Given the description of an element on the screen output the (x, y) to click on. 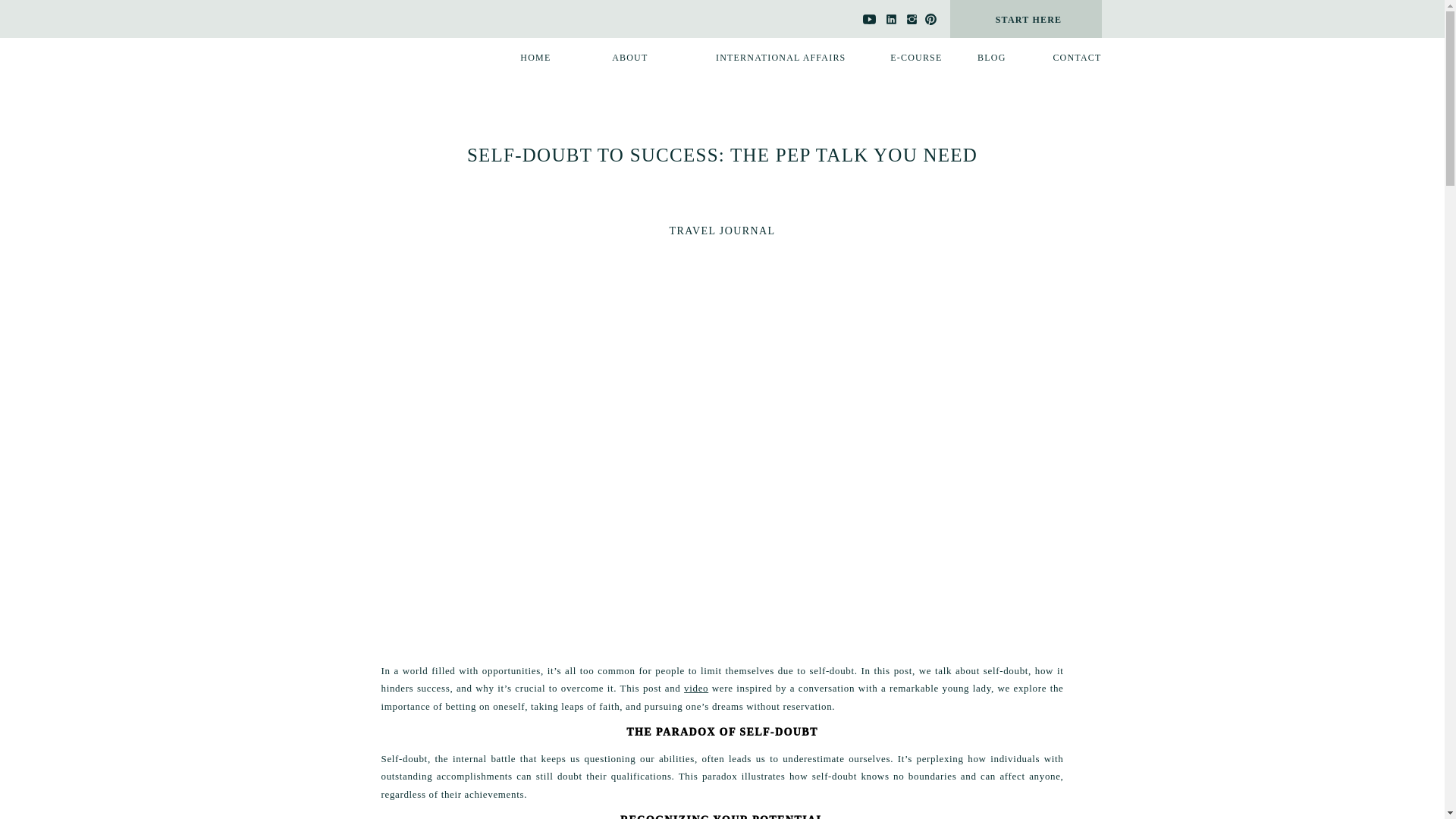
START HERE (1029, 19)
TRAVEL JOURNAL (722, 230)
CONTACT (1065, 57)
HOME (527, 57)
video (695, 687)
INTERNATIONAL AFFAIRS (762, 57)
ABOUT (619, 57)
BLOG (979, 57)
E-COURSE (905, 57)
